Given the description of an element on the screen output the (x, y) to click on. 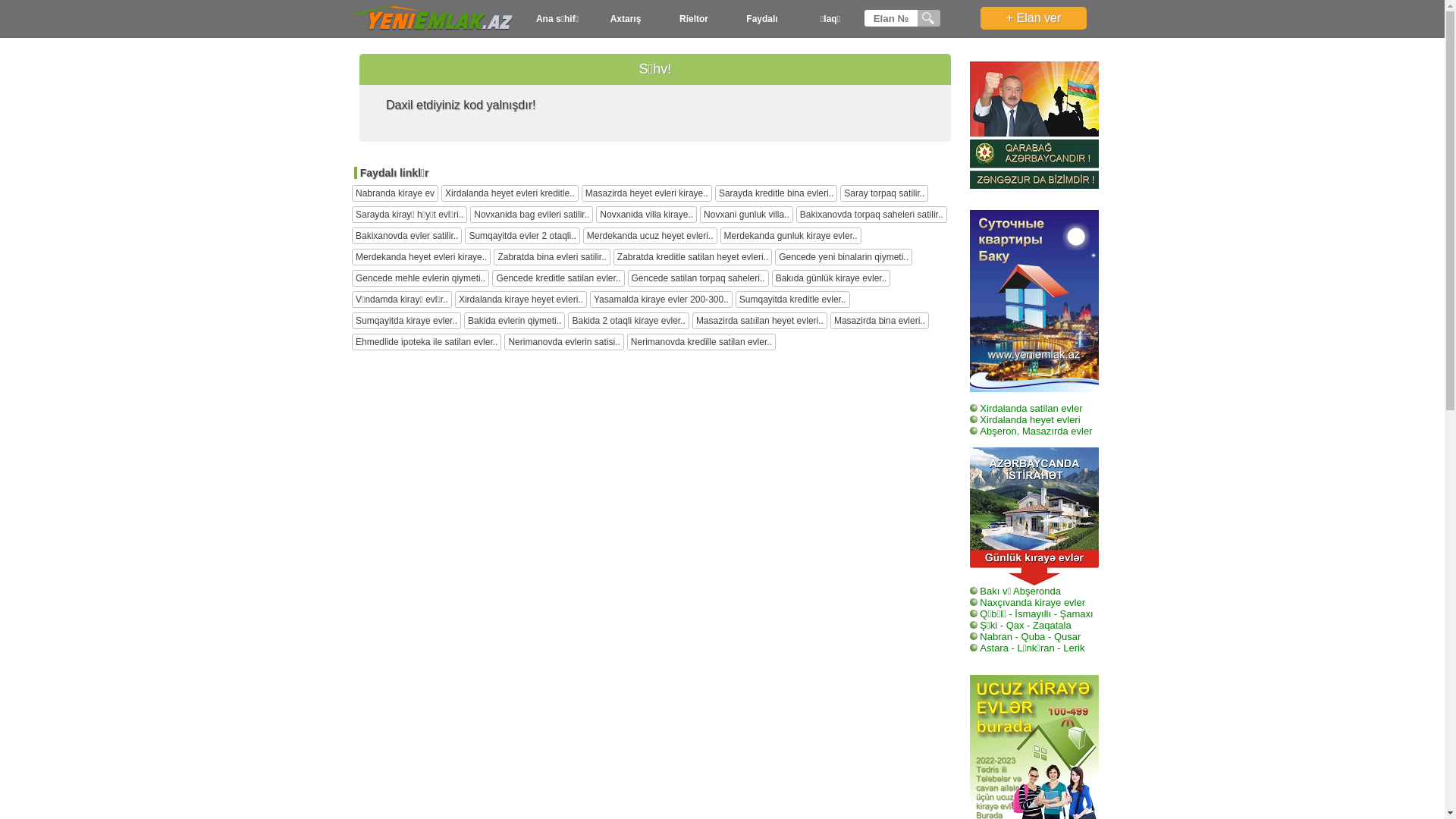
Yasamalda kiraye evler 200-300.. Element type: text (660, 299)
Gencede kreditle satilan evler.. Element type: text (558, 277)
Sumqayitda kiraye evler.. Element type: text (406, 320)
Novxanida villa kiraye.. Element type: text (646, 214)
Merdekanda heyet evleri kiraye.. Element type: text (420, 256)
Sarayda kreditle bina evleri.. Element type: text (776, 193)
Nabran - Quba - Qusar Element type: text (1024, 642)
Saray torpaq satilir.. Element type: text (884, 193)
Xirdalanda heyet evleri kreditle.. Element type: text (509, 193)
Sumqayitda evler 2 otaqli.. Element type: text (521, 235)
Novxani gunluk villa.. Element type: text (746, 214)
Sumqayitda kreditle evler.. Element type: text (792, 299)
Nerimanovda kredille satilan evler.. Element type: text (701, 341)
Rieltor Element type: text (693, 18)
Ehmedlide ipoteka ile satilan evler.. Element type: text (426, 341)
Xirdalanda kiraye heyet evleri.. Element type: text (520, 299)
Zabratda kreditle satilan heyet evleri.. Element type: text (692, 256)
Merdekanda gunluk kiraye evler.. Element type: text (790, 235)
Nerimanovda evlerin satisi.. Element type: text (563, 341)
Novxanida bag evileri satilir.. Element type: text (531, 214)
Masazirda bina evleri.. Element type: text (879, 320)
Gencede yeni binalarin qiymeti.. Element type: text (843, 256)
Zabratda bina evleri satilir.. Element type: text (551, 256)
Gencede mehle evlerin qiymeti.. Element type: text (420, 277)
Bakixanovda evler satilir.. Element type: text (406, 235)
Xirdalanda heyet evleri Element type: text (1024, 425)
Bakida 2 otaqli kiraye evler.. Element type: text (627, 320)
Gencede satilan torpaq saheleri.. Element type: text (697, 277)
Merdekanda ucuz heyet evleri.. Element type: text (650, 235)
Xirdalanda satilan evler Element type: text (1025, 414)
Nabranda kiraye ev Element type: text (394, 193)
Bakixanovda torpaq saheleri satilir.. Element type: text (871, 214)
Masazirda heyet evleri kiraye.. Element type: text (646, 193)
Bakida evlerin qiymeti.. Element type: text (514, 320)
